Given the description of an element on the screen output the (x, y) to click on. 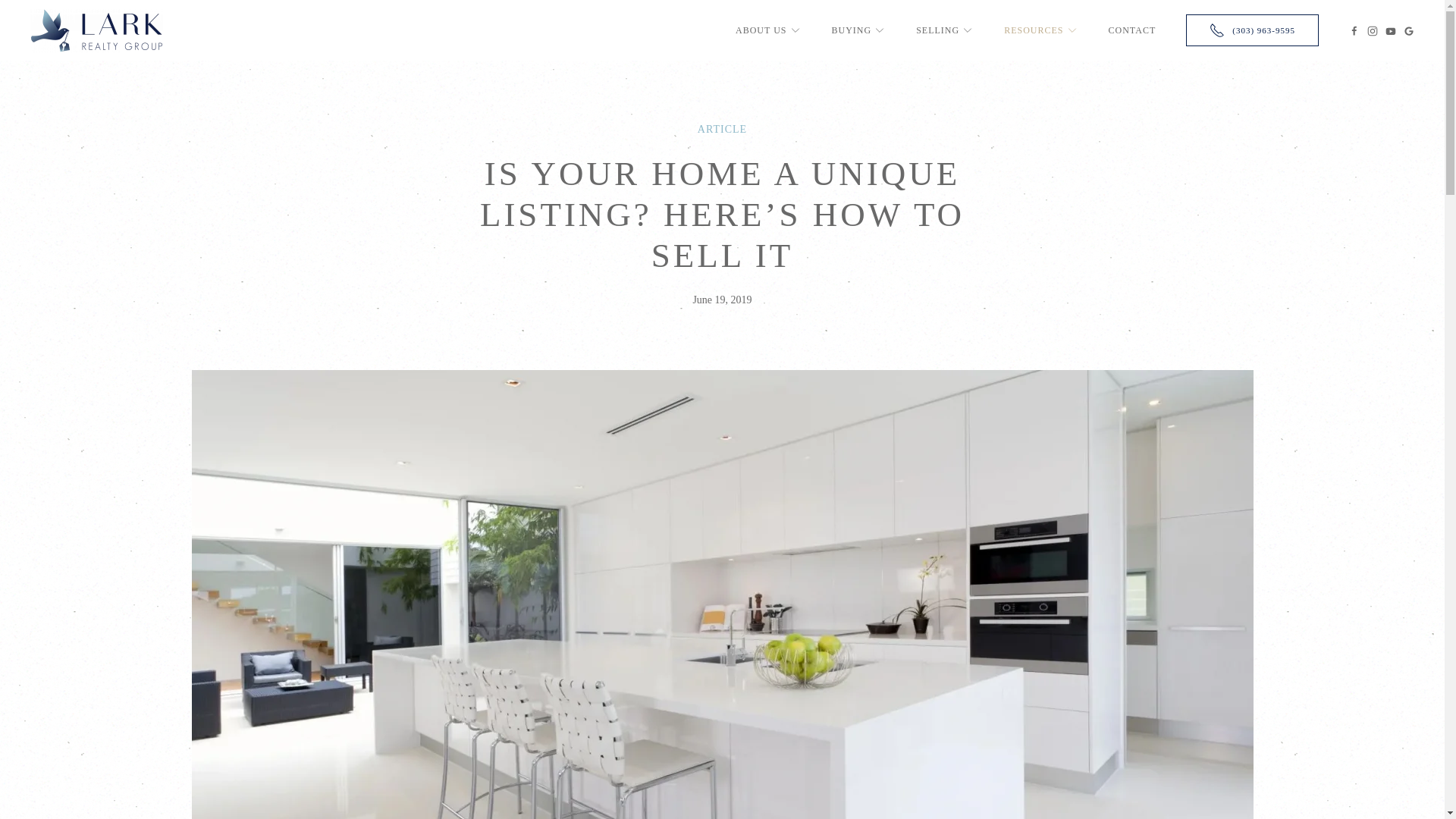
SELLING (944, 30)
CONTACT (1132, 30)
ABOUT US (767, 30)
RESOURCES (1040, 30)
ARTICLE (722, 129)
BUYING (858, 30)
